Given the description of an element on the screen output the (x, y) to click on. 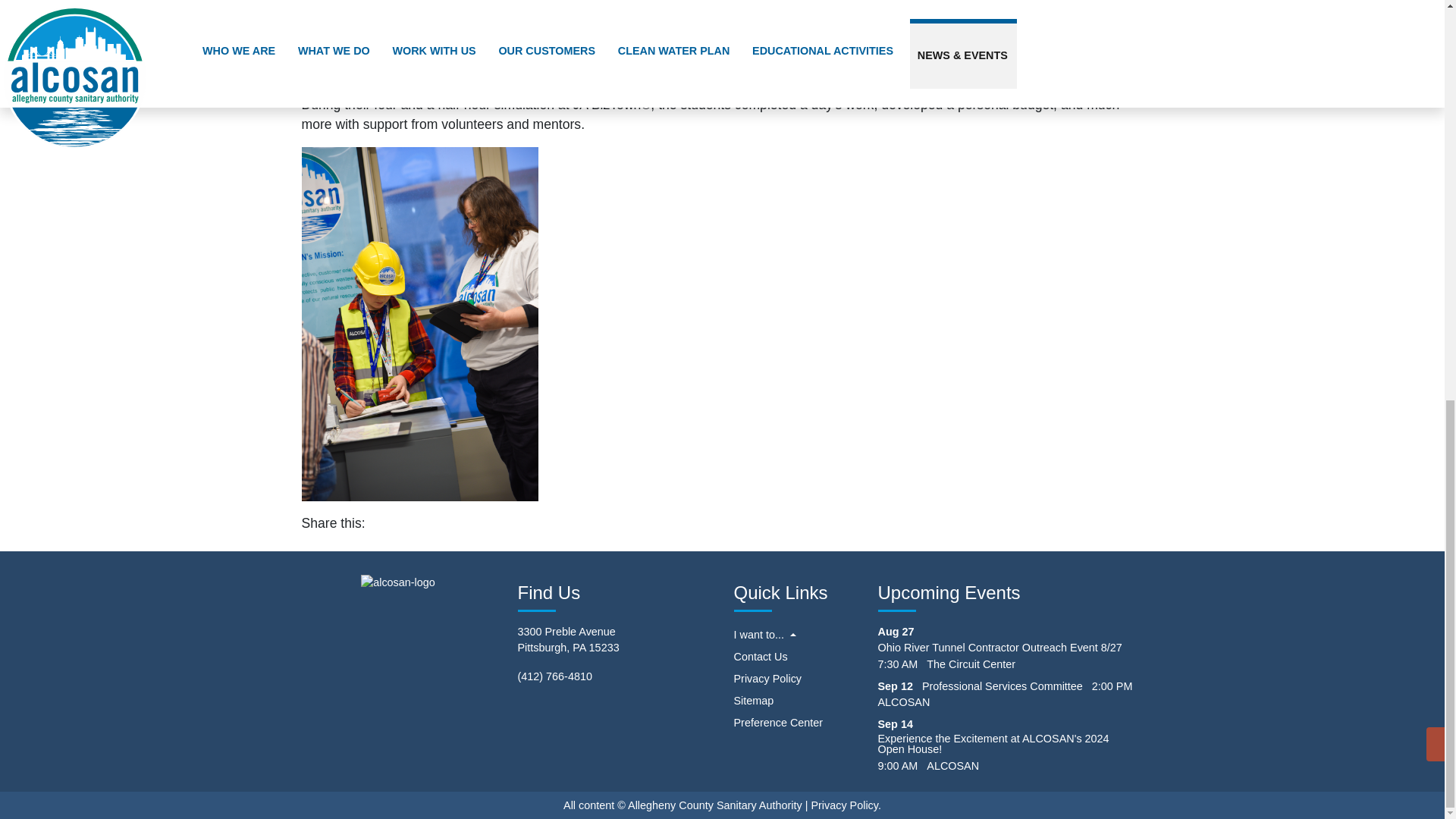
alcosan-logo (398, 582)
